Given the description of an element on the screen output the (x, y) to click on. 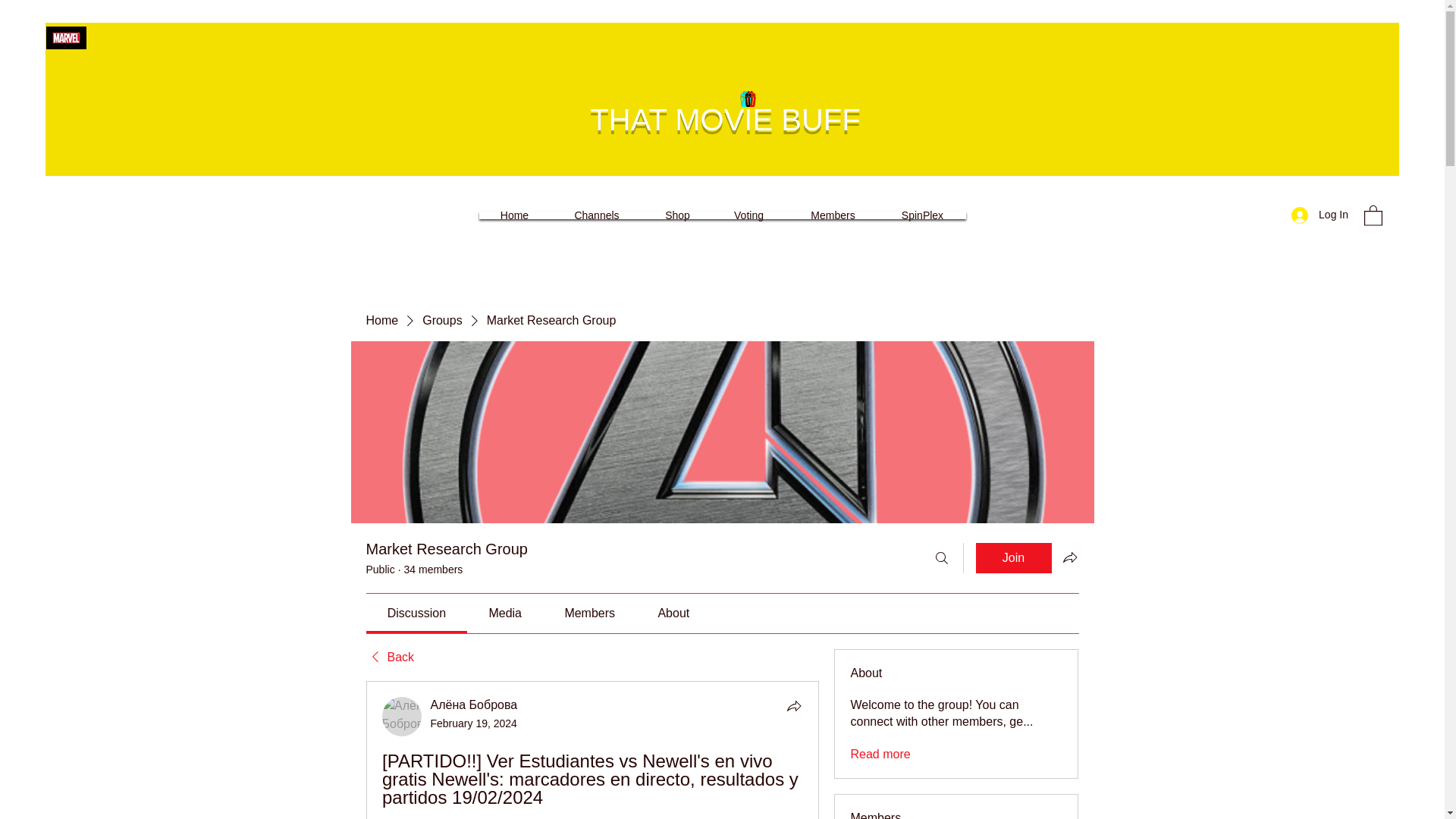
Members (833, 214)
February 19, 2024 (473, 723)
Log In (1319, 214)
SpinPlex (922, 214)
Join (1013, 557)
Shop (677, 214)
Home (381, 320)
Groups (441, 320)
Read more (880, 754)
Back (389, 657)
Home (514, 214)
Voting (748, 214)
Channels (596, 214)
